Given the description of an element on the screen output the (x, y) to click on. 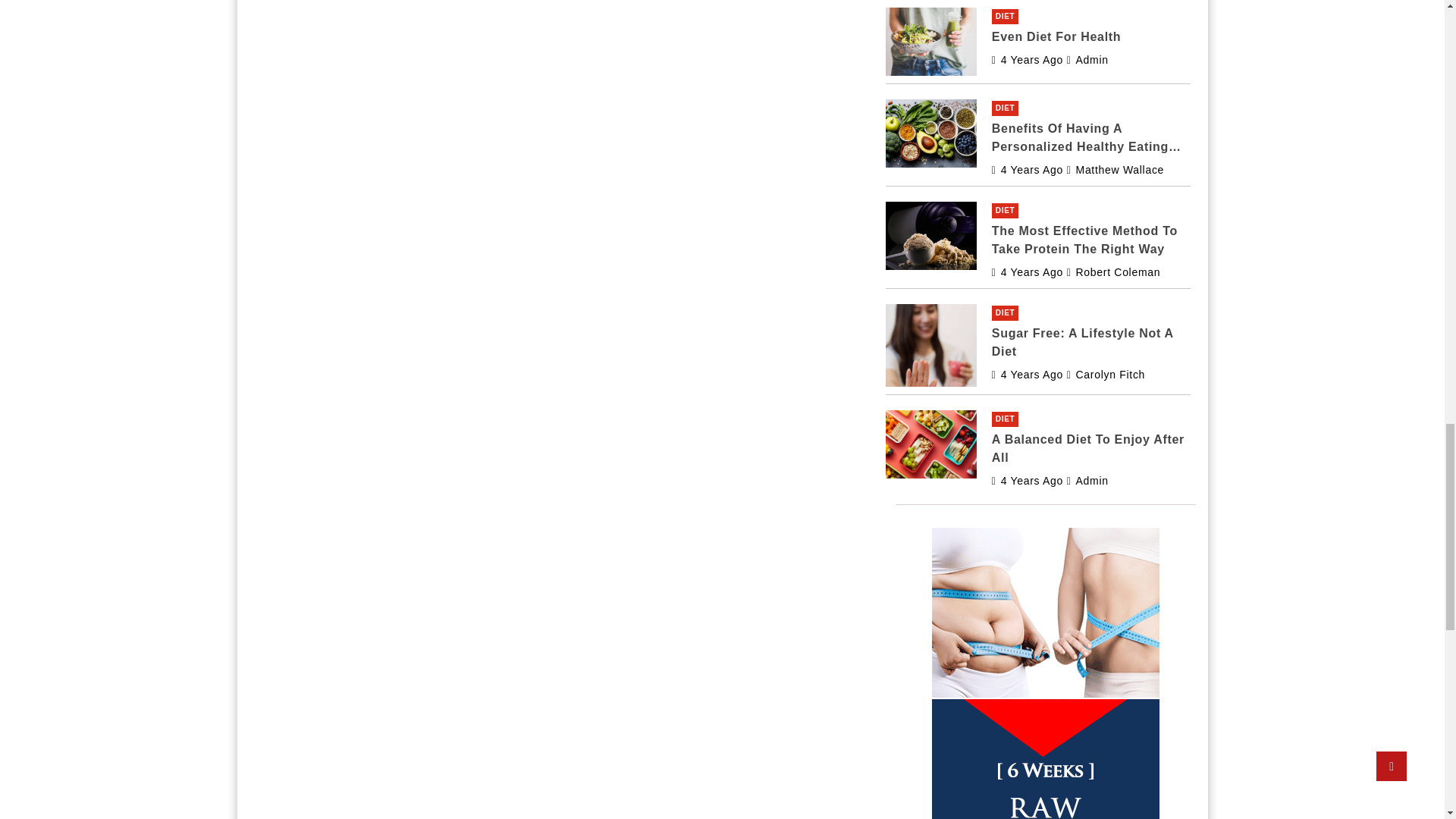
Benefits of Having a Personalized Healthy Eating Plan (1026, 169)
Even Diet For Health (1026, 60)
